Given the description of an element on the screen output the (x, y) to click on. 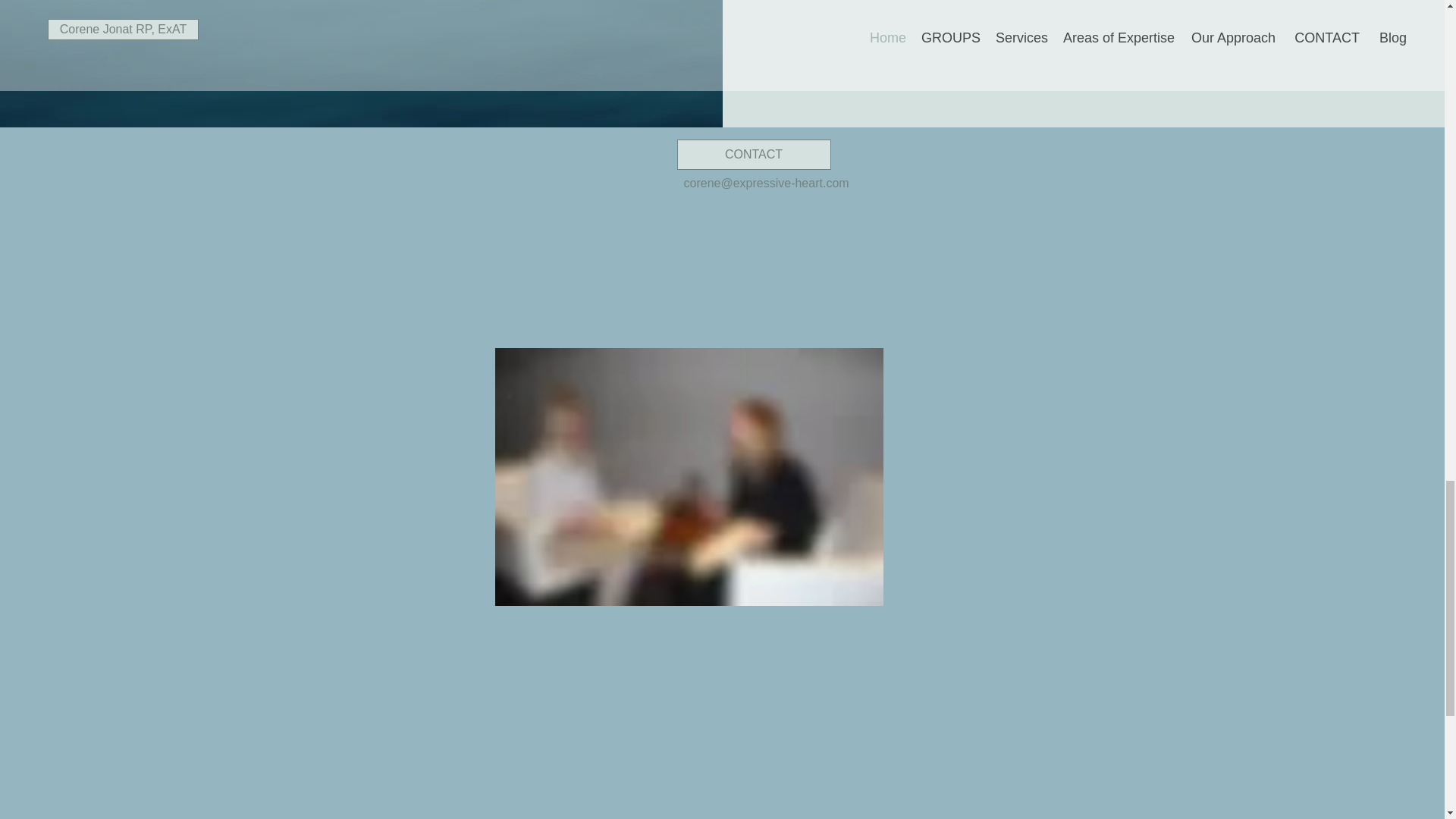
CONTACT (753, 154)
